Given the description of an element on the screen output the (x, y) to click on. 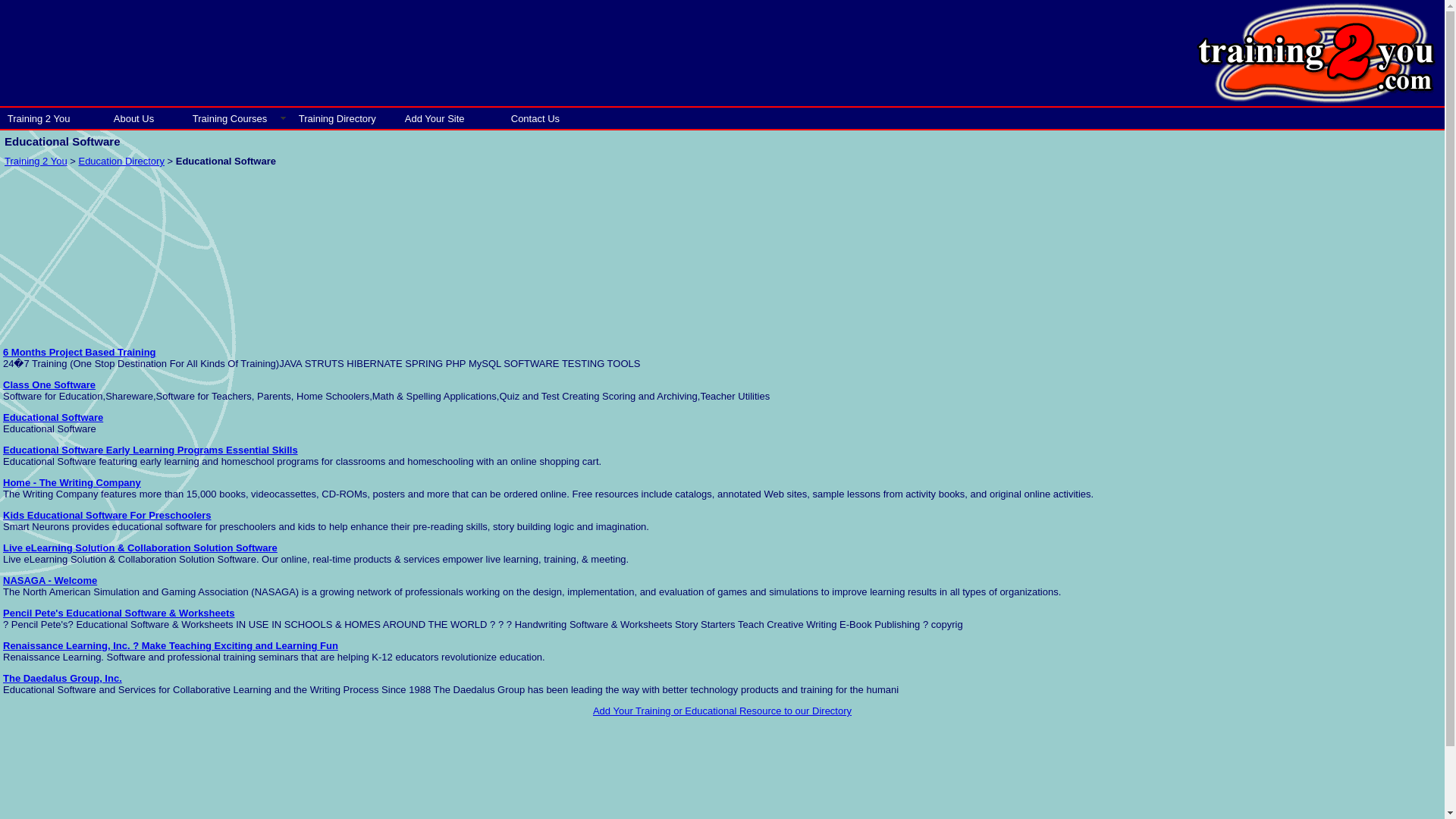
Advertisement (1327, 441)
Kids Educational Software For Preschoolers (106, 514)
Education Directory (120, 161)
Add Your Training or Educational Resource to our Directory (721, 710)
About Us (145, 117)
6 Months Project Based Training (78, 351)
Contact Us (542, 117)
Home - The Writing Company (71, 482)
Training 2 You (53, 117)
Class One Software (49, 384)
